Given the description of an element on the screen output the (x, y) to click on. 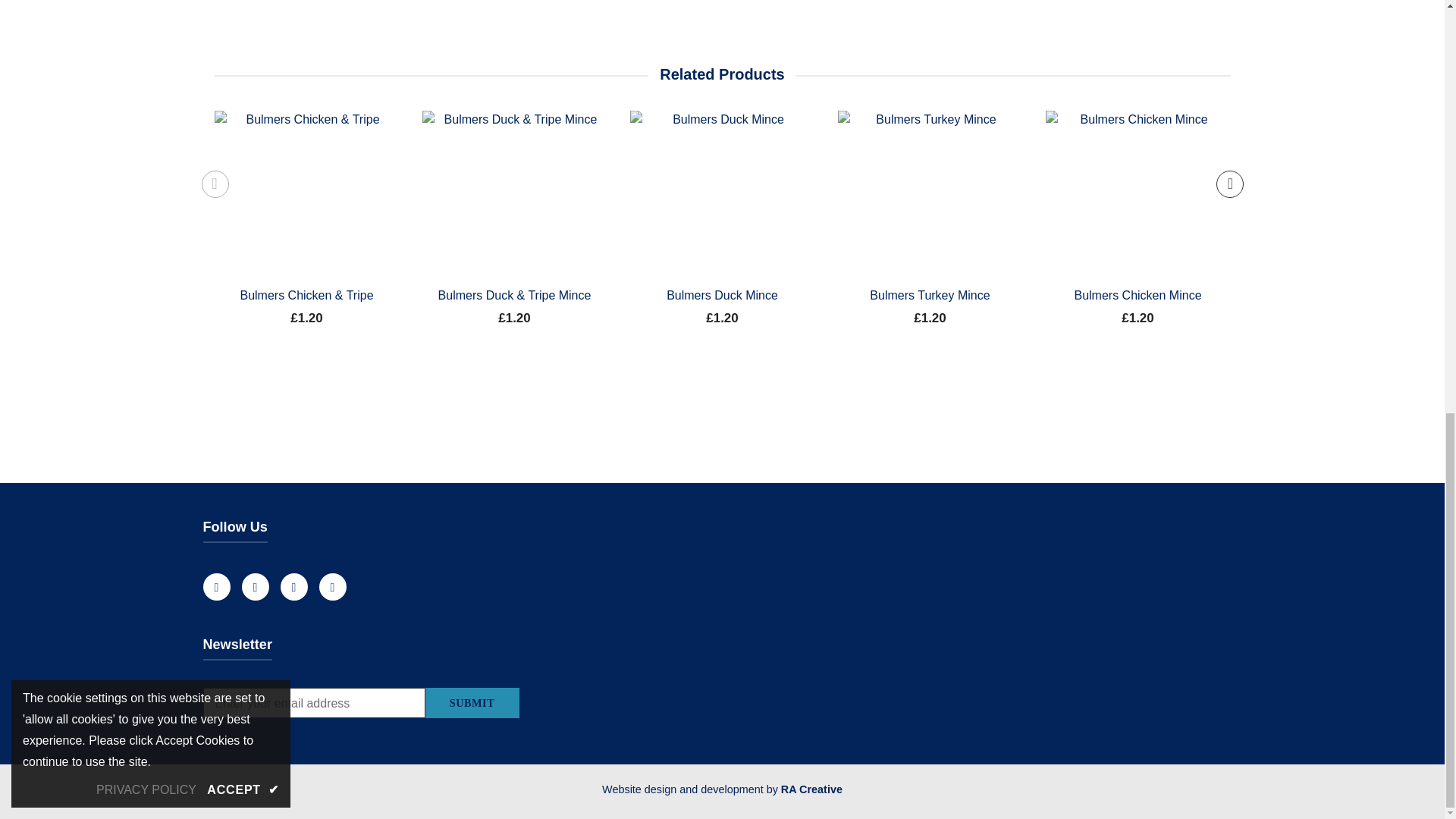
Submit (471, 702)
